Given the description of an element on the screen output the (x, y) to click on. 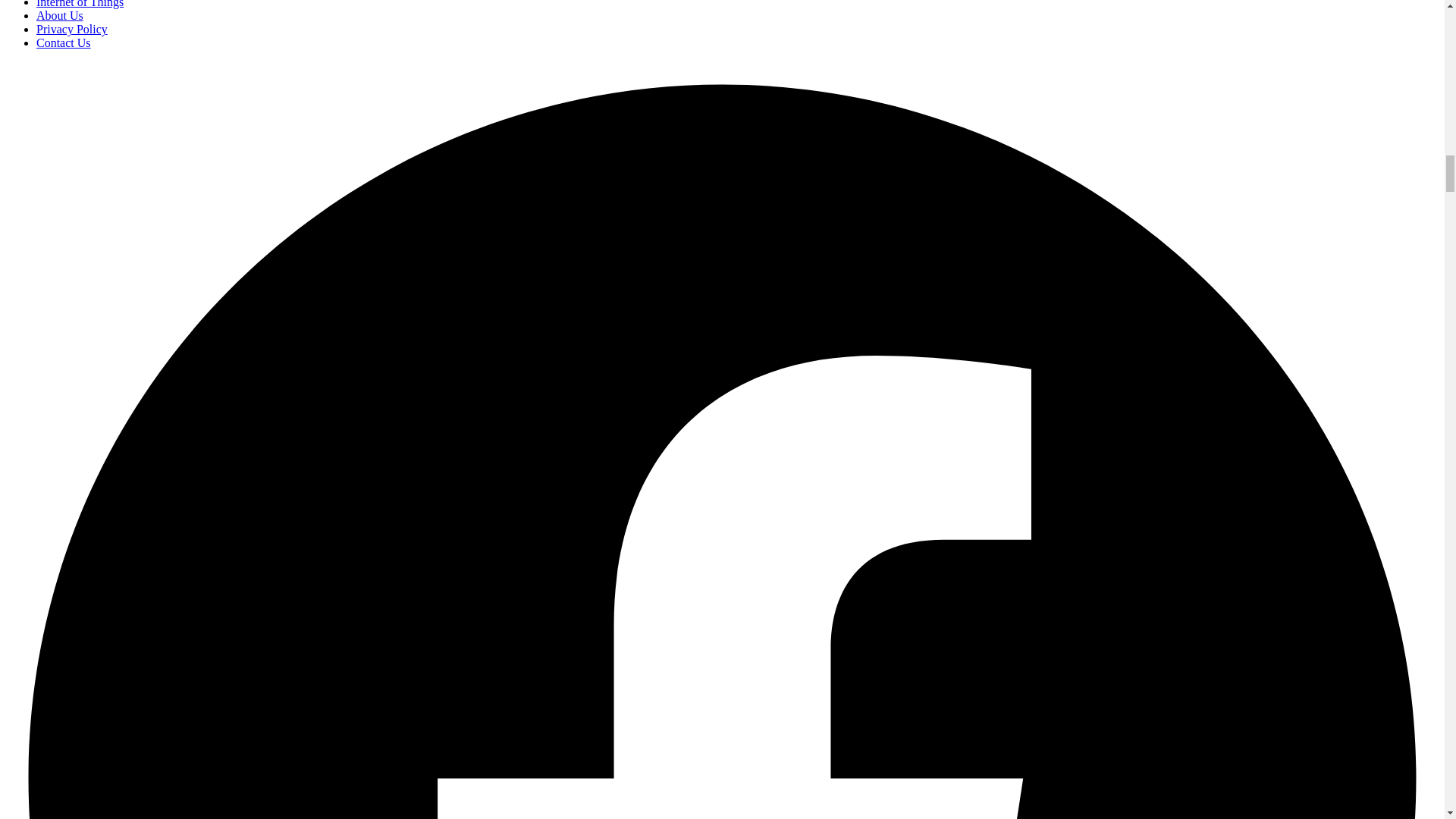
About Us (59, 15)
Contact Us (63, 42)
Internet of Things (79, 4)
Privacy Policy (71, 29)
